Given the description of an element on the screen output the (x, y) to click on. 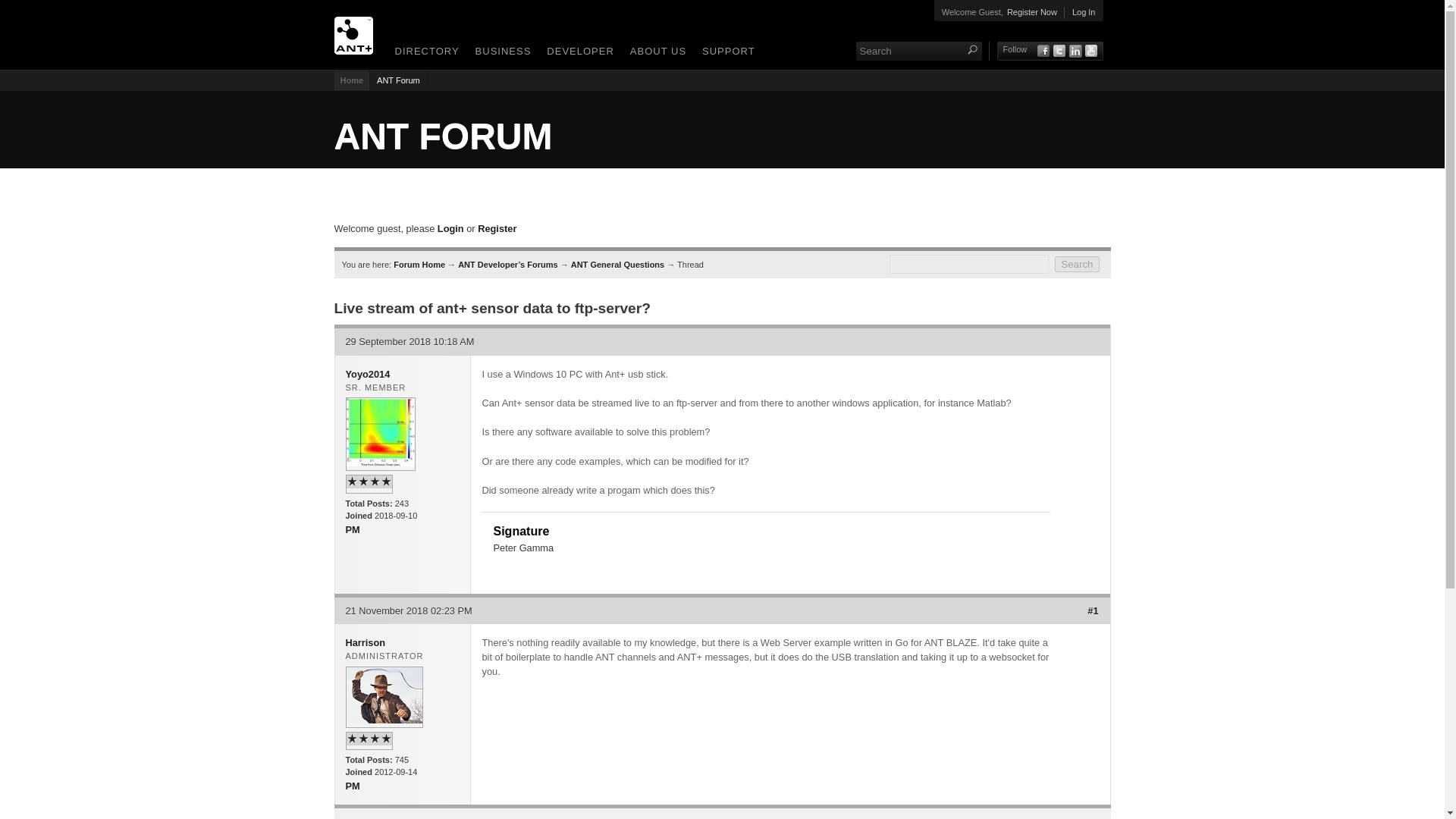
SUPPORT (725, 53)
Permalink to this post (1092, 610)
Search (908, 50)
Register Now (1032, 11)
ABOUT US (655, 53)
Search (1076, 263)
Log In (1083, 11)
BUSINESS (500, 53)
DEVELOPER (576, 53)
DIRECTORY (424, 53)
